Given the description of an element on the screen output the (x, y) to click on. 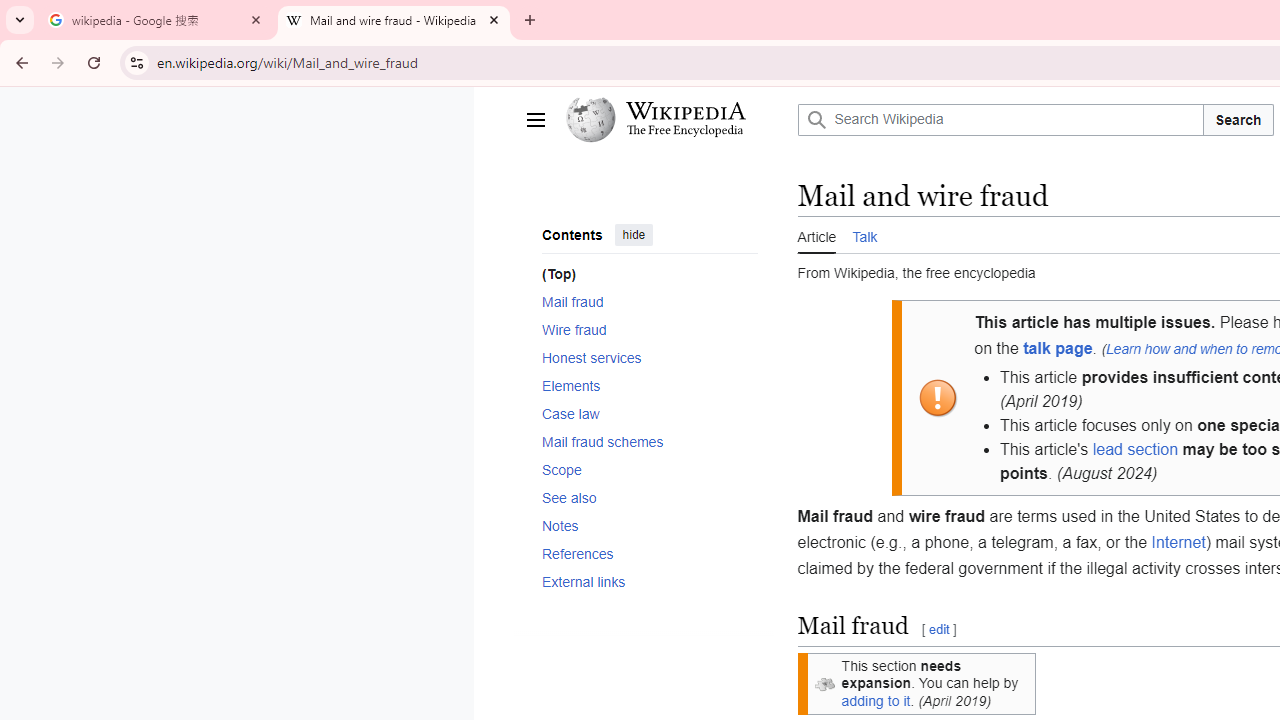
The Free Encyclopedia (685, 131)
AutomationID: toc-Mail_fraud_schemes (642, 440)
lead section (1134, 449)
Article (817, 235)
AutomationID: toc-References (642, 553)
AutomationID: toc-See_also (642, 497)
Honest services (649, 357)
AutomationID: toc-Case_law (642, 412)
adding to it (875, 700)
Wikipedia The Free Encyclopedia (676, 119)
References (649, 553)
